Given the description of an element on the screen output the (x, y) to click on. 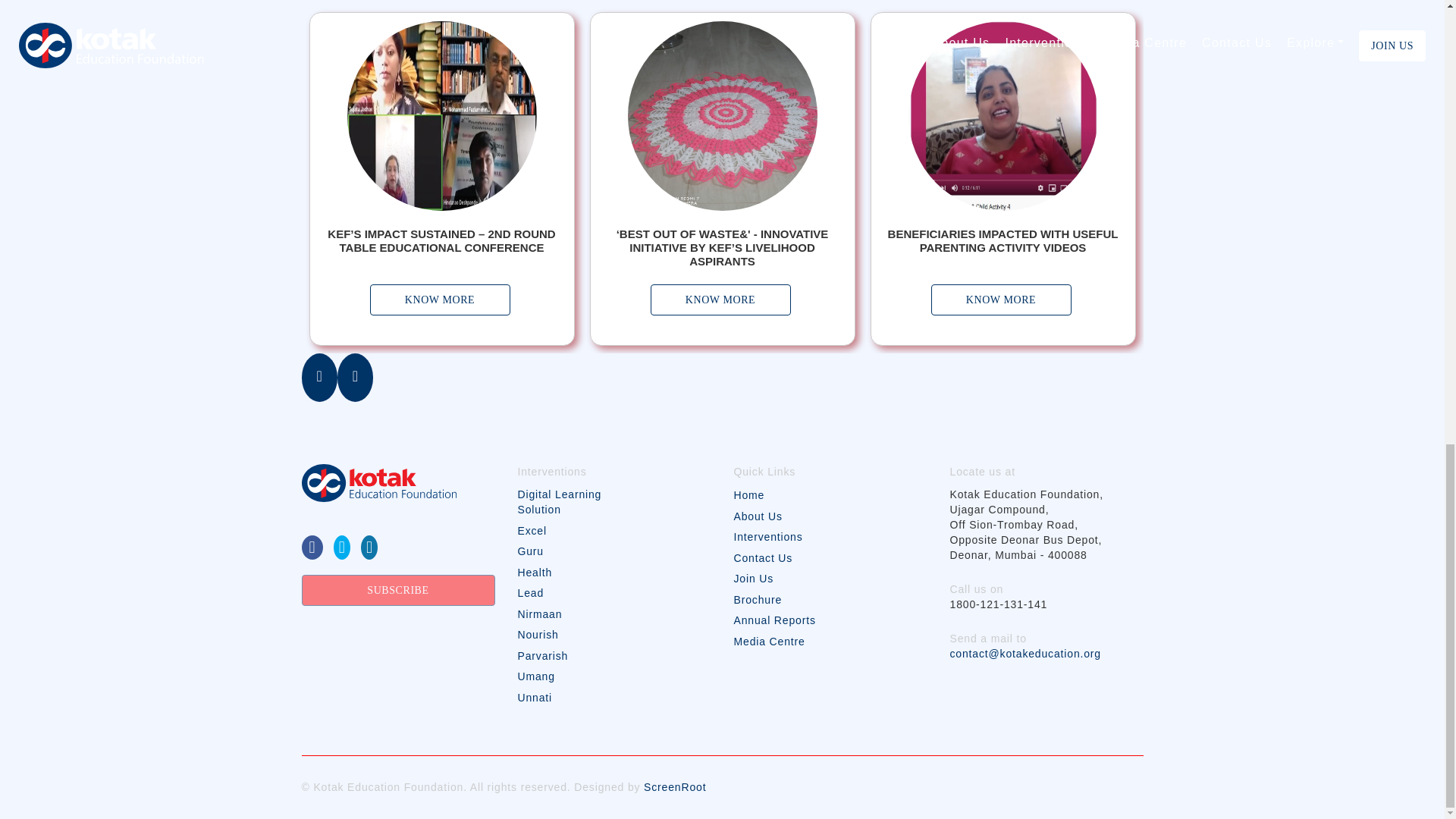
KNOW MORE (1001, 299)
SUBSCRIBE (398, 590)
KNOW MORE (720, 299)
BENEFICIARIES IMPACTED WITH USEFUL PARENTING ACTIVITY VIDEOS (1002, 240)
KNOW MORE (440, 299)
Digital Learning Solution (562, 501)
